Given the description of an element on the screen output the (x, y) to click on. 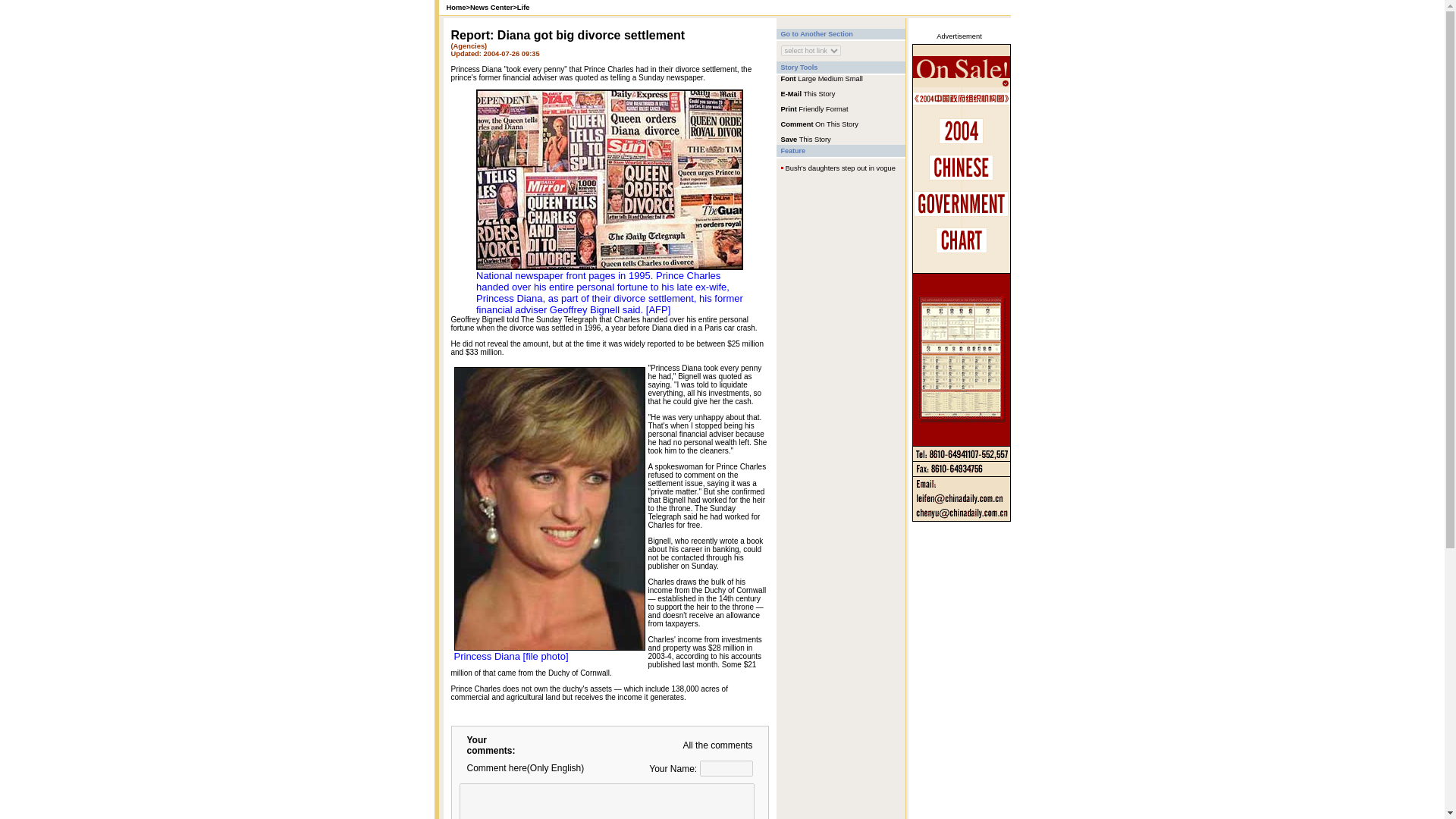
Print Friendly Format (814, 108)
Save This Story (805, 138)
Small (854, 78)
Large (806, 78)
Bush's daughters step out in vogue (840, 167)
E-Mail This Story (807, 92)
Life (522, 7)
News Center (491, 7)
All the comments (717, 745)
Comment On This Story (819, 122)
Medium (830, 78)
